Given the description of an element on the screen output the (x, y) to click on. 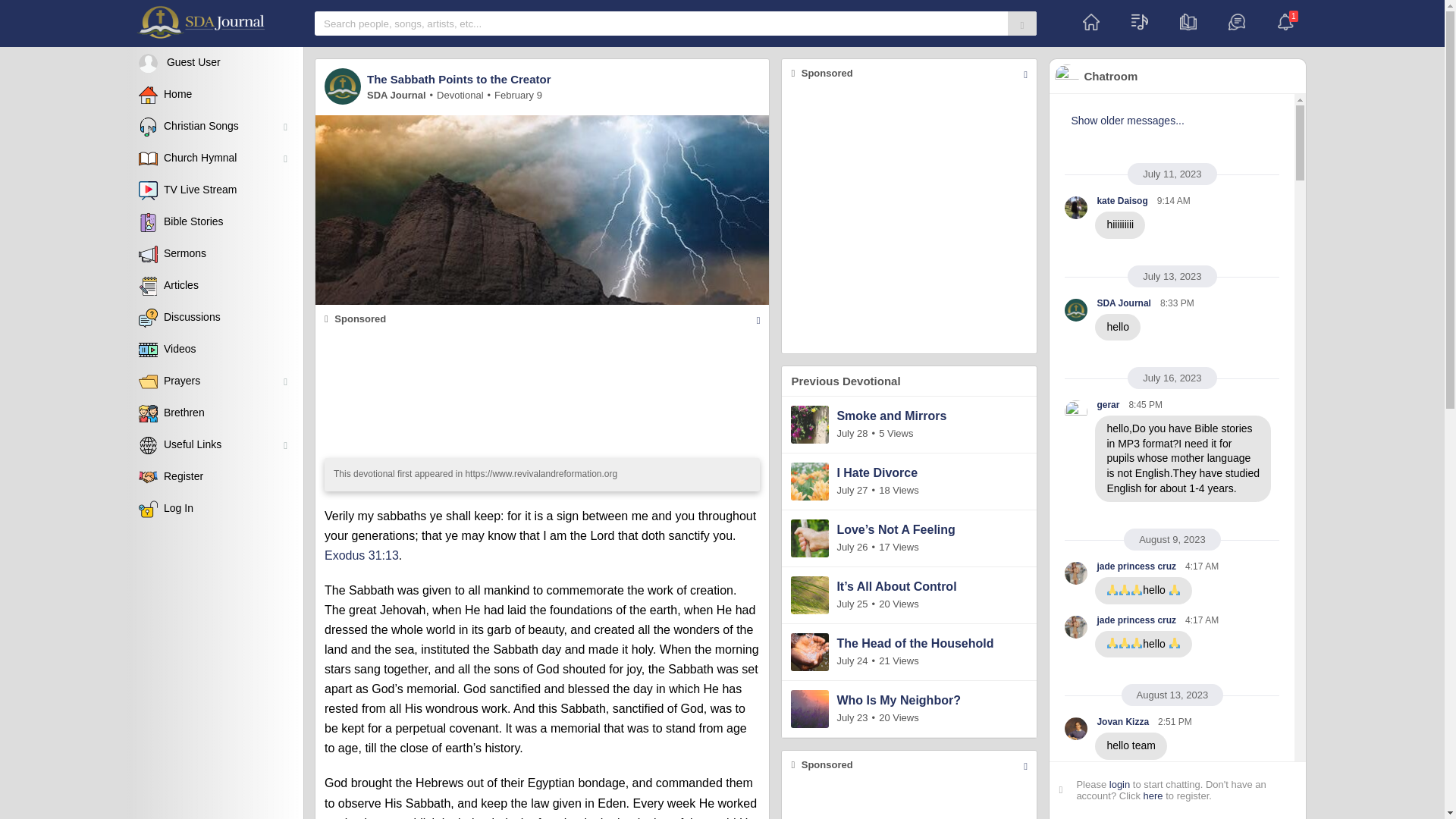
TV Live Stream (215, 190)
Church Hymnal (215, 158)
Prayers (215, 381)
Guest User (215, 62)
Discussions (215, 317)
Articles (215, 286)
Bible Stories (215, 222)
Advertisement (541, 391)
Advertisement (908, 219)
Minimize chatroom (1177, 75)
Home (215, 94)
Sermons (215, 254)
Christian Songs (215, 126)
Brethren (215, 413)
Home (1091, 23)
